Given the description of an element on the screen output the (x, y) to click on. 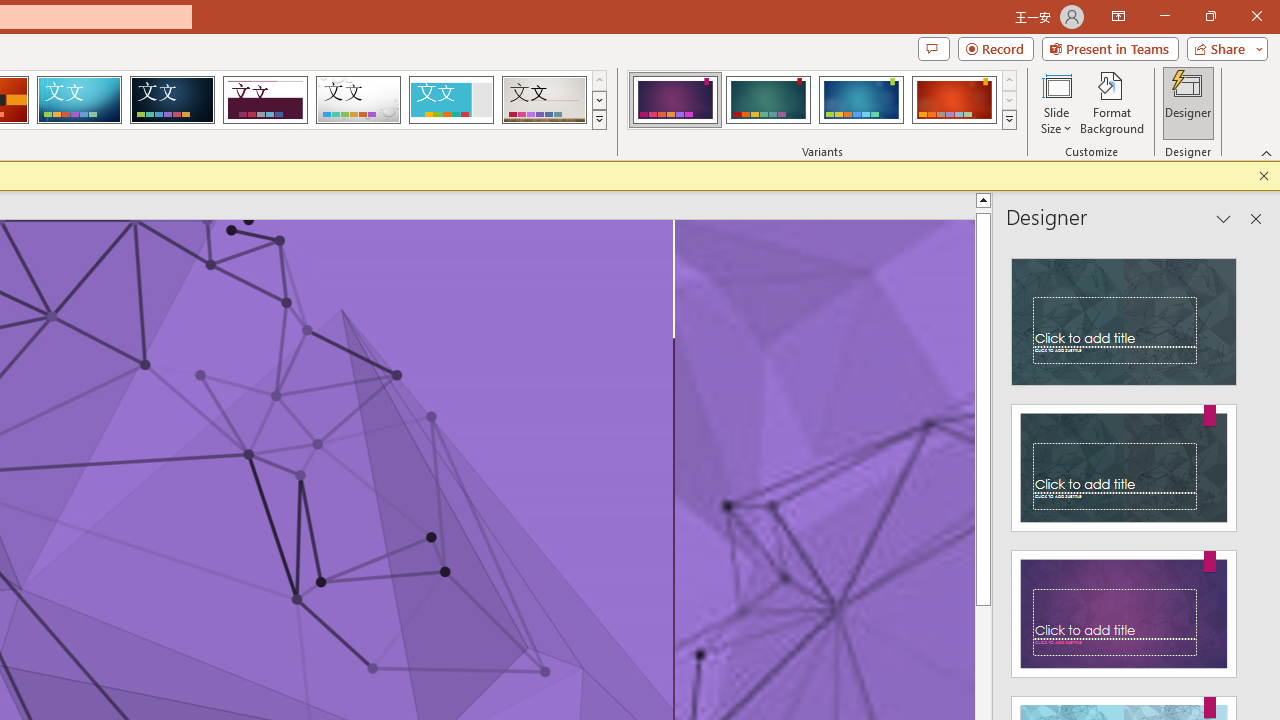
Frame (450, 100)
AutomationID: ThemeVariantsGallery (822, 99)
Dividend (265, 100)
Variants (1009, 120)
Ion Boardroom Variant 3 (861, 100)
Circuit (79, 100)
Ion Boardroom Variant 2 (768, 100)
Close this message (1263, 176)
Ion Boardroom Variant 1 (674, 100)
Droplet (358, 100)
